Given the description of an element on the screen output the (x, y) to click on. 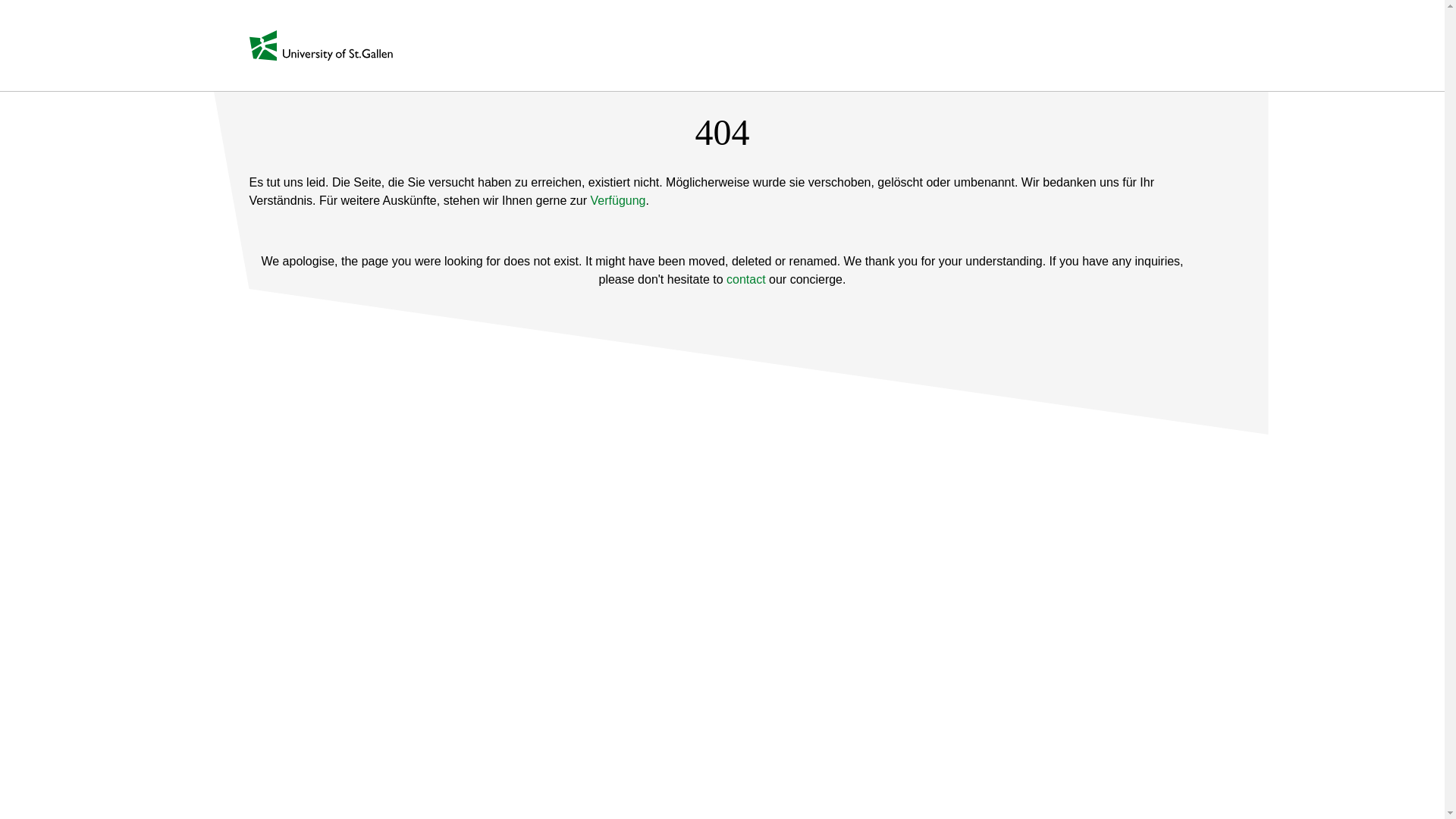
contact (745, 278)
